Given the description of an element on the screen output the (x, y) to click on. 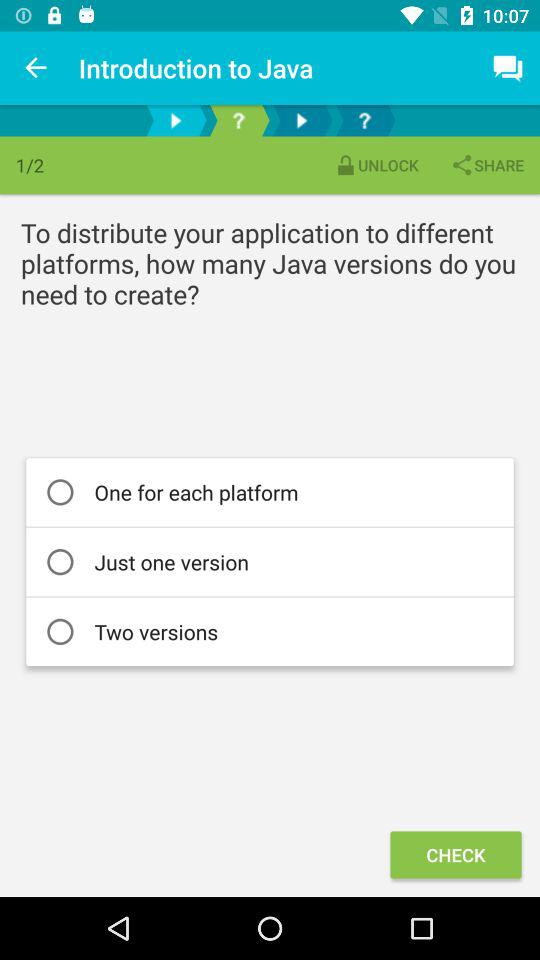
turn off item above 1/2 (36, 68)
